Given the description of an element on the screen output the (x, y) to click on. 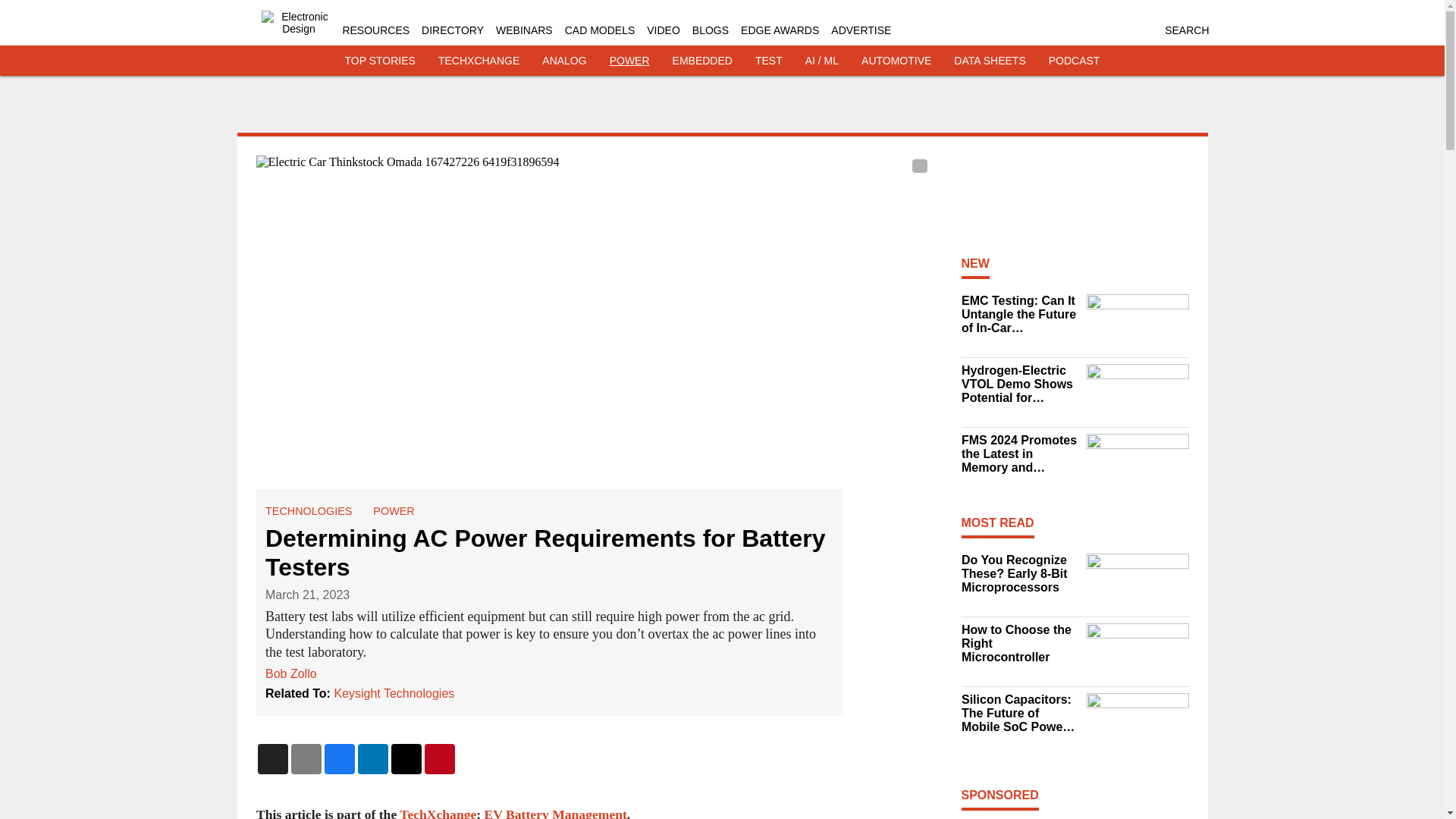
POWER (629, 60)
RESOURCES (375, 30)
EDGE AWARDS (779, 30)
SEARCH (1186, 30)
ANALOG (563, 60)
Bob Zollo (290, 673)
TECHXCHANGE (478, 60)
CAD MODELS (599, 30)
POWER (392, 510)
TOP STORIES (379, 60)
